Given the description of an element on the screen output the (x, y) to click on. 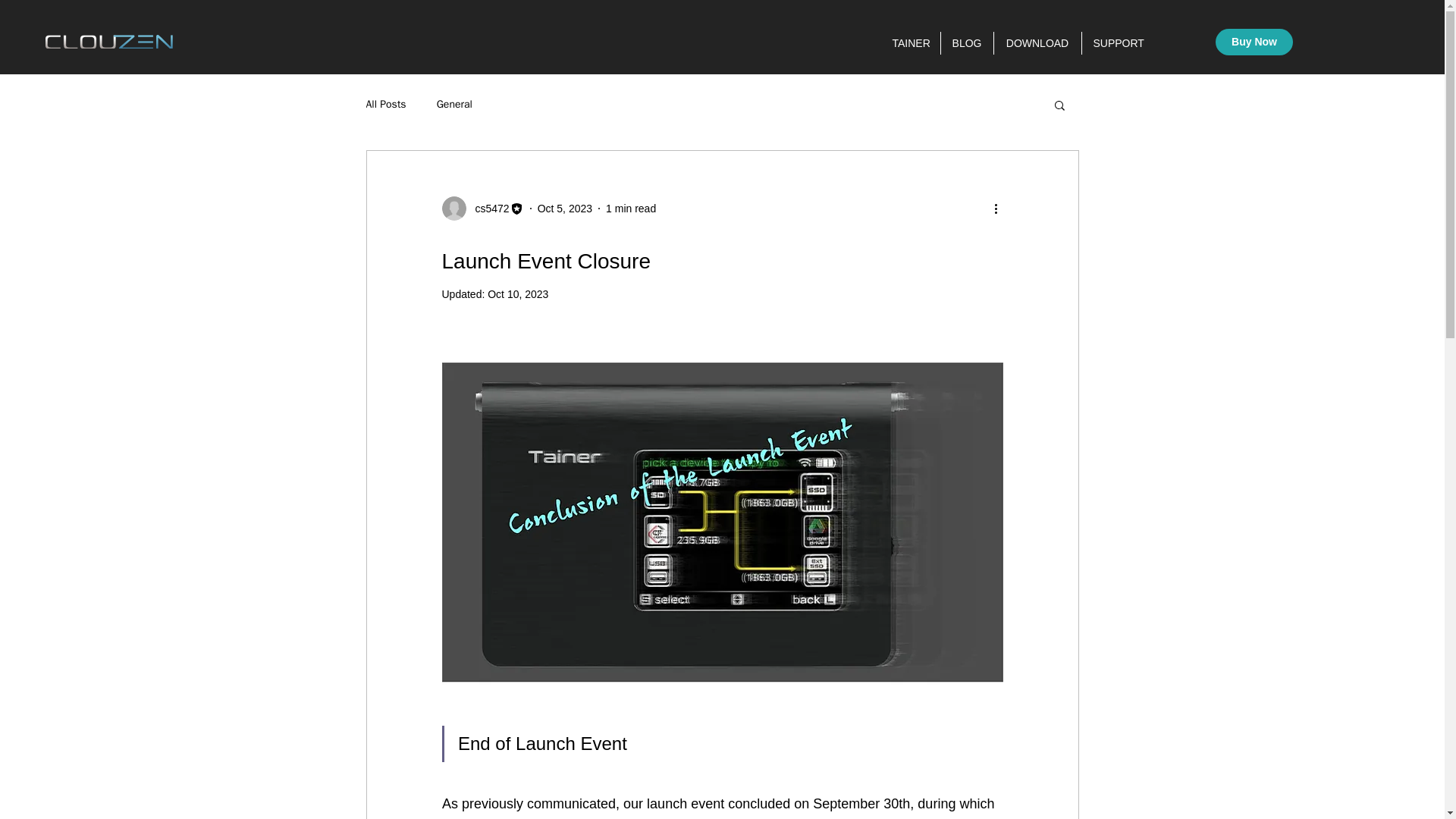
Buy Now (1253, 41)
Oct 10, 2023 (517, 294)
cs5472 (486, 207)
BLOG (966, 42)
All Posts (385, 104)
1 min read (630, 207)
cs5472 (481, 208)
Oct 5, 2023 (564, 207)
DOWNLOAD (1036, 42)
TAINER (910, 42)
General (453, 104)
